Given the description of an element on the screen output the (x, y) to click on. 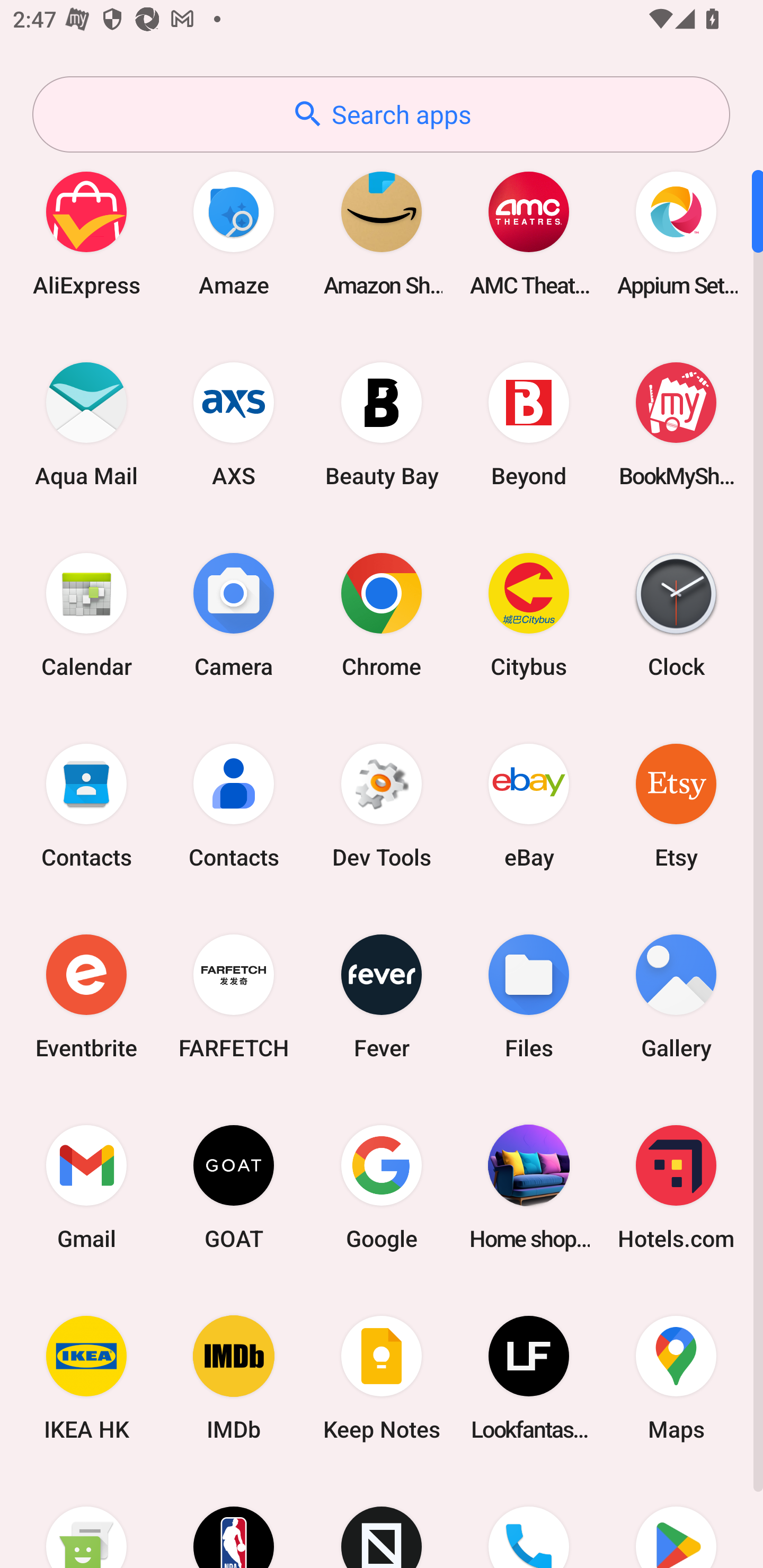
  Search apps (381, 114)
AliExpress (86, 233)
Amaze (233, 233)
Amazon Shopping (381, 233)
AMC Theatres (528, 233)
Appium Settings (676, 233)
Aqua Mail (86, 424)
AXS (233, 424)
Beauty Bay (381, 424)
Beyond (528, 424)
BookMyShow (676, 424)
Calendar (86, 614)
Camera (233, 614)
Chrome (381, 614)
Citybus (528, 614)
Clock (676, 614)
Contacts (86, 805)
Contacts (233, 805)
Dev Tools (381, 805)
eBay (528, 805)
Etsy (676, 805)
Eventbrite (86, 996)
FARFETCH (233, 996)
Fever (381, 996)
Files (528, 996)
Gallery (676, 996)
Gmail (86, 1186)
GOAT (233, 1186)
Google (381, 1186)
Home shopping (528, 1186)
Hotels.com (676, 1186)
IKEA HK (86, 1377)
IMDb (233, 1377)
Keep Notes (381, 1377)
Lookfantastic (528, 1377)
Maps (676, 1377)
Messaging (86, 1520)
NBA (233, 1520)
Novelship (381, 1520)
Phone (528, 1520)
Play Store (676, 1520)
